Given the description of an element on the screen output the (x, y) to click on. 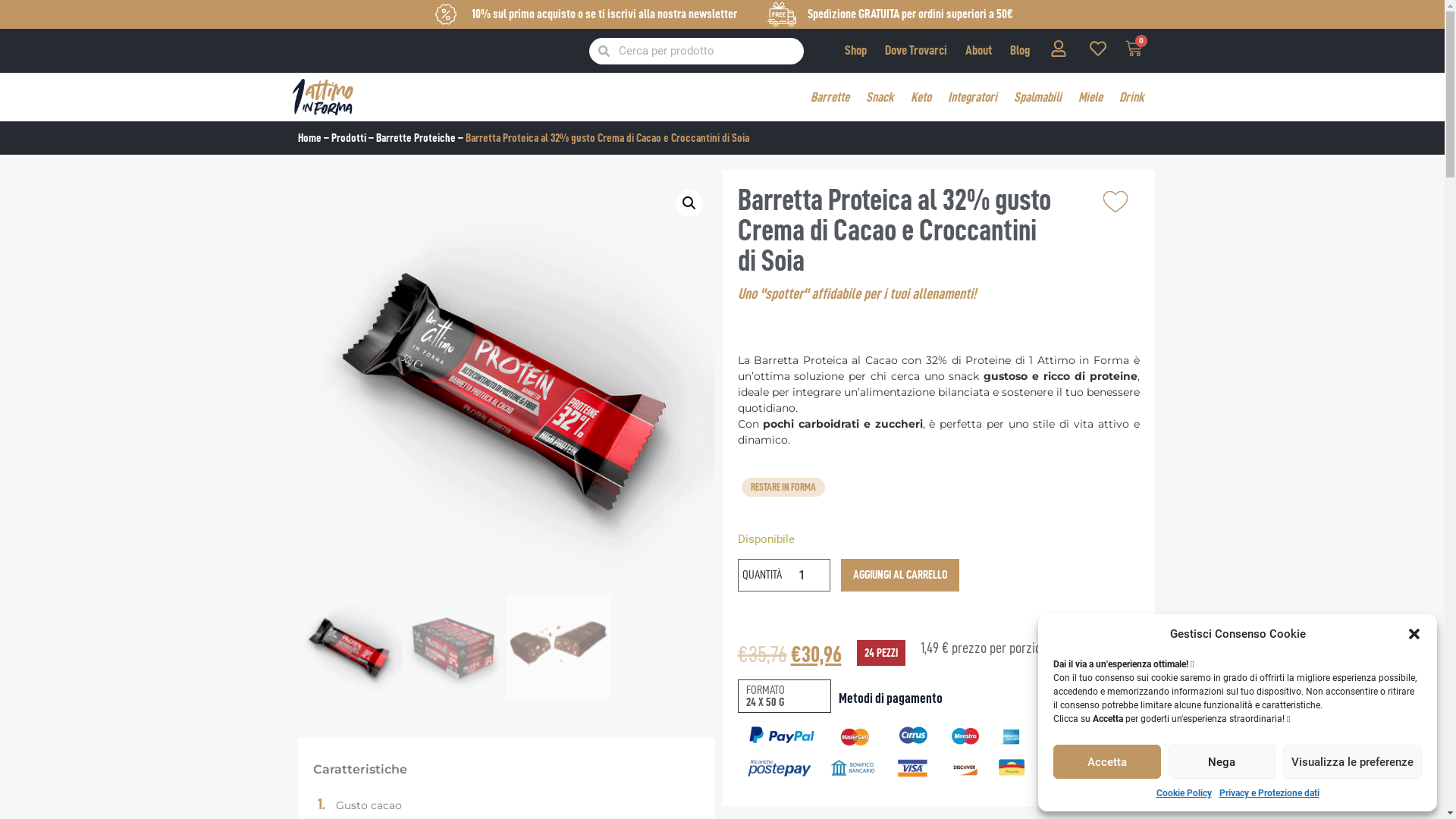
Integratori Element type: text (971, 96)
0 Element type: text (1133, 50)
Snack Element type: text (878, 96)
Prodotti Element type: text (347, 137)
Drink Element type: text (1130, 96)
Nega Element type: text (1221, 761)
Keto Element type: text (919, 96)
pagamenti_sicuri Element type: hover (888, 751)
Dove Trovarci Element type: text (915, 49)
Blog Element type: text (1019, 49)
About Element type: text (978, 49)
Spalmabili Element type: text (1036, 96)
Cookie Policy Element type: text (1183, 793)
AGGIUNGI AL CARRELLO Element type: text (899, 574)
Barrette Element type: text (828, 96)
Miele Element type: text (1089, 96)
Privacy e Protezione dati Element type: text (1269, 793)
Home Element type: text (308, 137)
Visualizza le preferenze Element type: text (1352, 761)
Barrette Proteiche Element type: text (415, 137)
Accetta Element type: text (1107, 761)
Barretta-proteica-al-cacao-1-attimo-in-forma Element type: hover (505, 385)
RESTARE IN FORMA Element type: text (783, 486)
Shop Element type: text (855, 49)
